Given the description of an element on the screen output the (x, y) to click on. 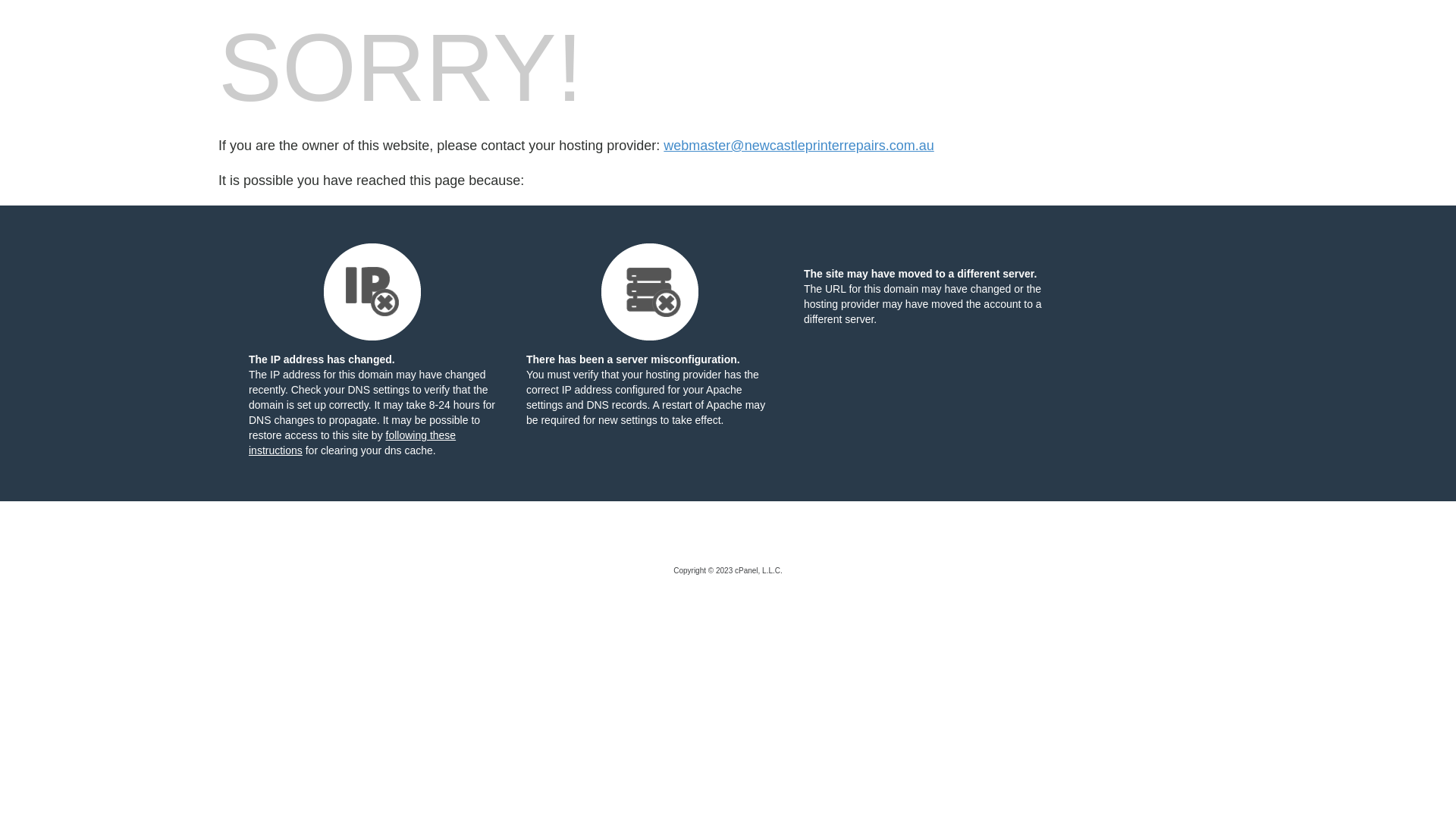
following these instructions Element type: text (351, 442)
webmaster@newcastleprinterrepairs.com.au Element type: text (798, 145)
